Given the description of an element on the screen output the (x, y) to click on. 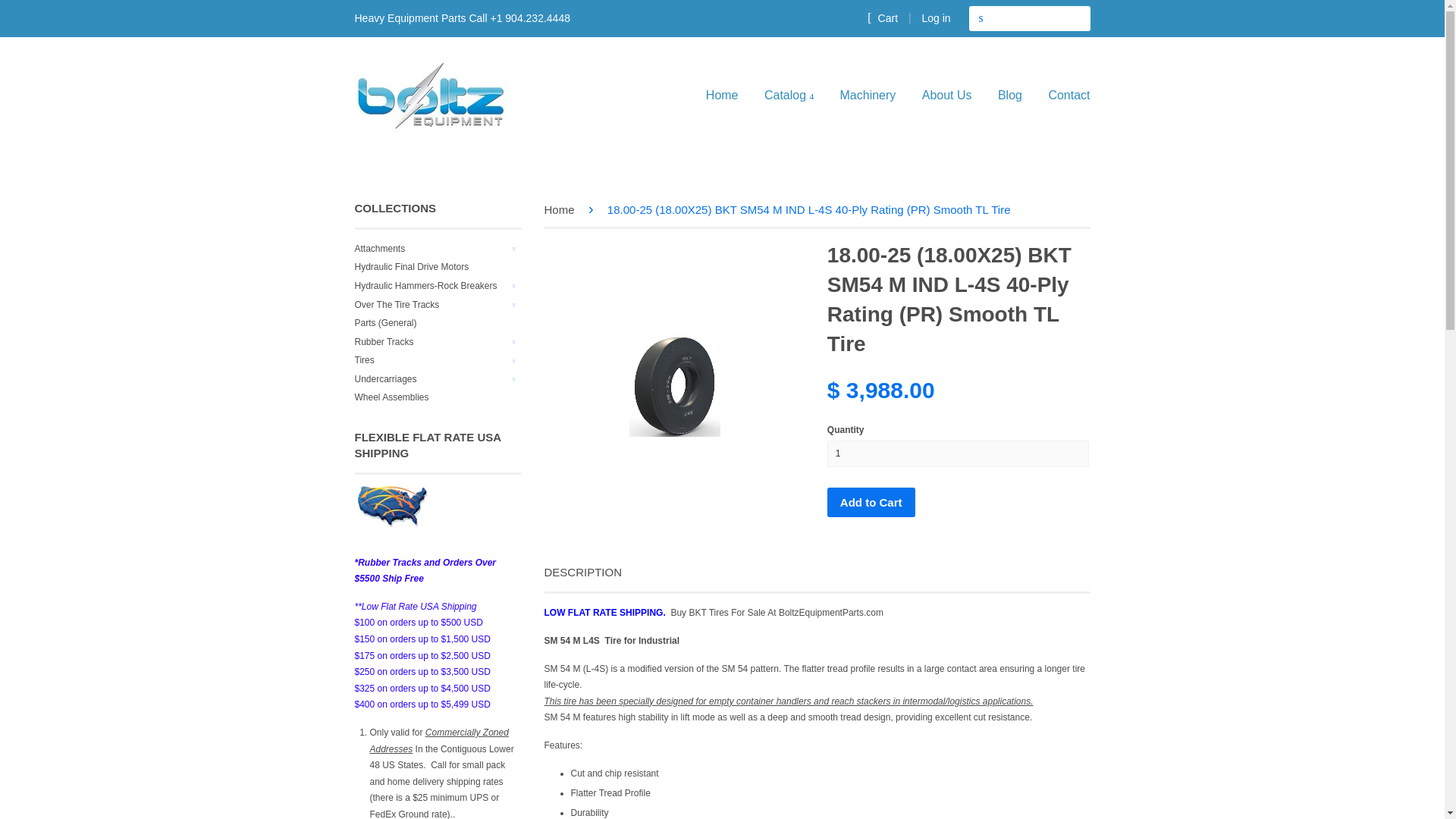
Log in (935, 18)
1 (958, 453)
Search (980, 18)
Back to the frontpage (561, 209)
Cart (882, 17)
